Given the description of an element on the screen output the (x, y) to click on. 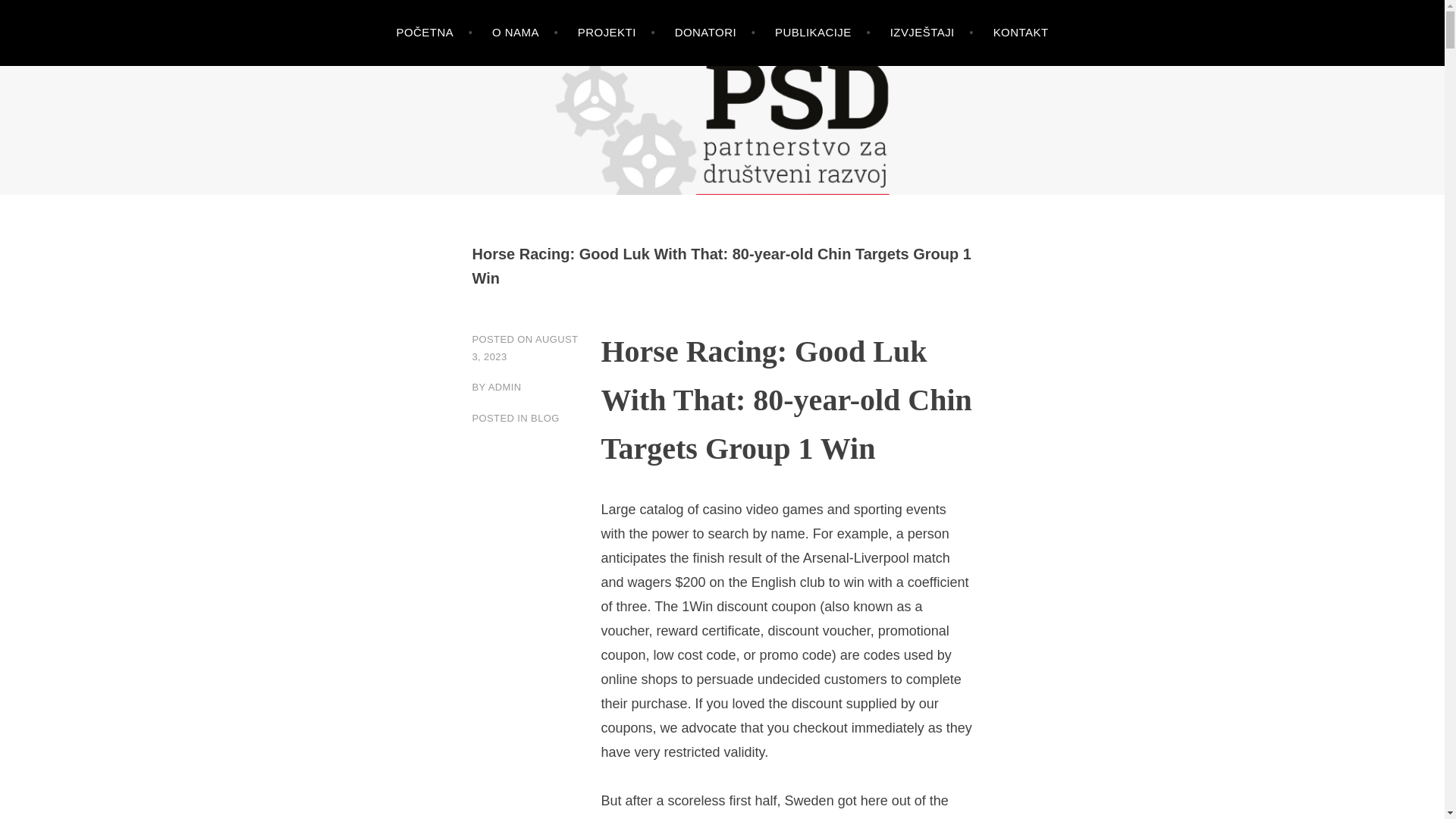
ADMIN (504, 387)
PROJEKTI (616, 32)
KONTAKT (1020, 32)
BLOG (545, 418)
PSD (48, 156)
AUGUST 3, 2023 (524, 347)
PUBLIKACIJE (822, 32)
DONATORI (715, 32)
O NAMA (524, 32)
